Given the description of an element on the screen output the (x, y) to click on. 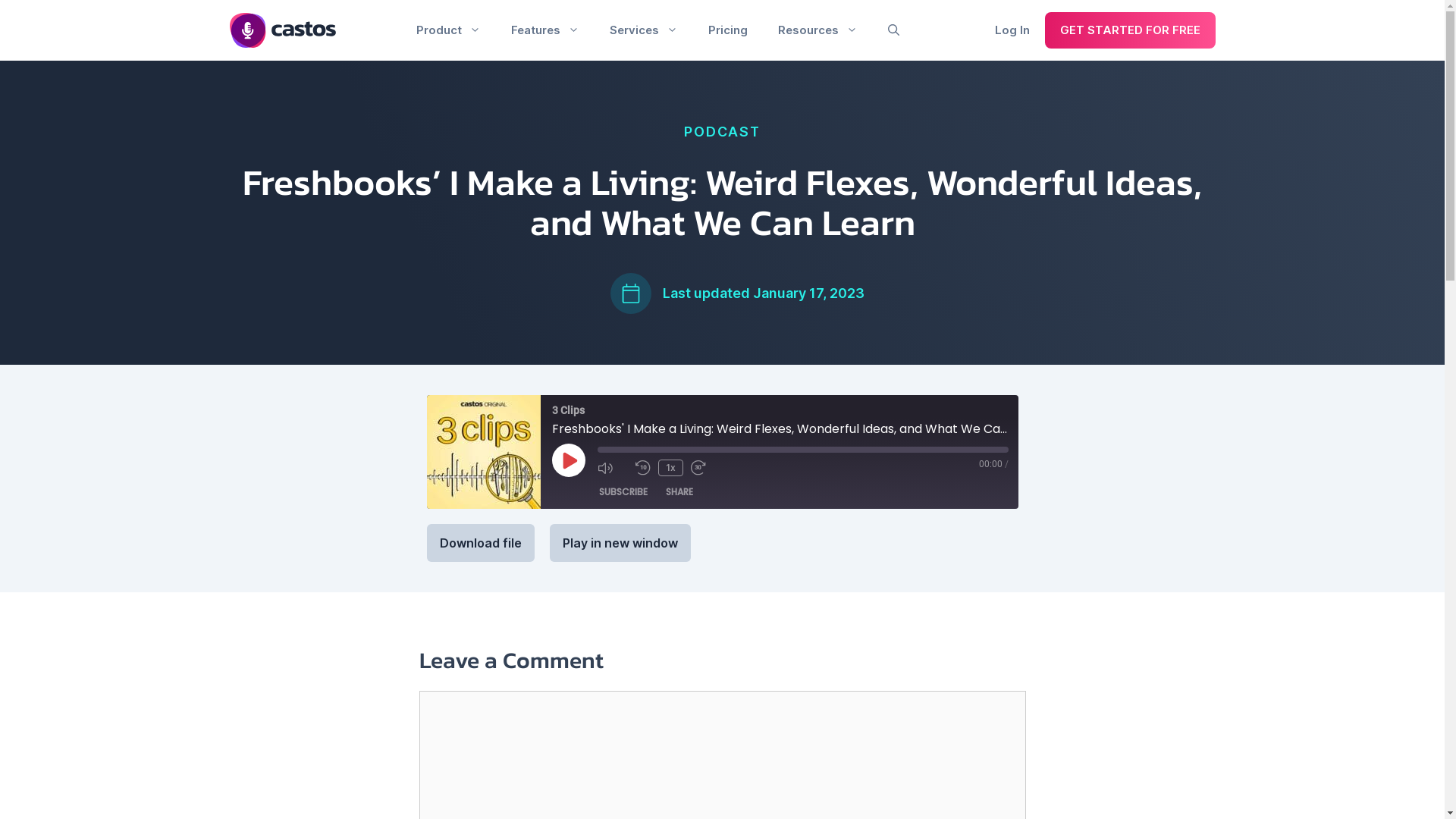
Pricing Element type: text (727, 30)
Product Element type: text (447, 30)
SUBSCRIBE Element type: text (623, 492)
Log In Element type: text (1011, 30)
Fast Forward 30 seconds Element type: text (705, 467)
Features Element type: text (544, 30)
Rewind 10 Seconds Element type: text (642, 467)
Resources Element type: text (817, 30)
Seek Element type: hover (802, 449)
GET STARTED FOR FREE Element type: text (1129, 30)
Mute/Unmute Episode Element type: text (612, 467)
Play Episode Element type: text (568, 459)
SHARE Element type: text (679, 492)
3 Clips Element type: hover (482, 451)
Play in new window Element type: text (619, 542)
Download file Element type: text (479, 542)
1x Element type: text (670, 467)
Services Element type: text (643, 30)
